Given the description of an element on the screen output the (x, y) to click on. 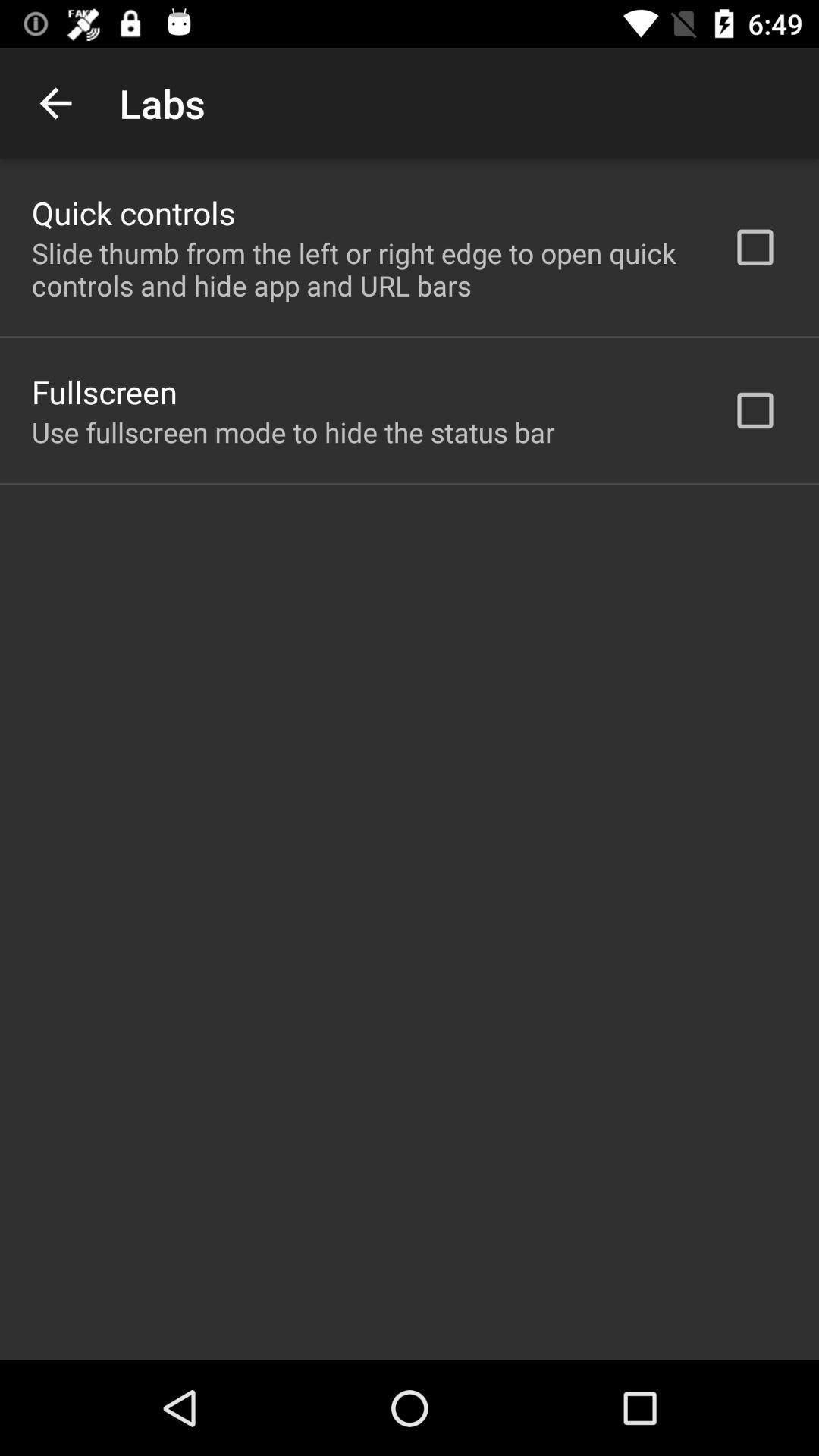
launch item next to labs app (55, 103)
